Given the description of an element on the screen output the (x, y) to click on. 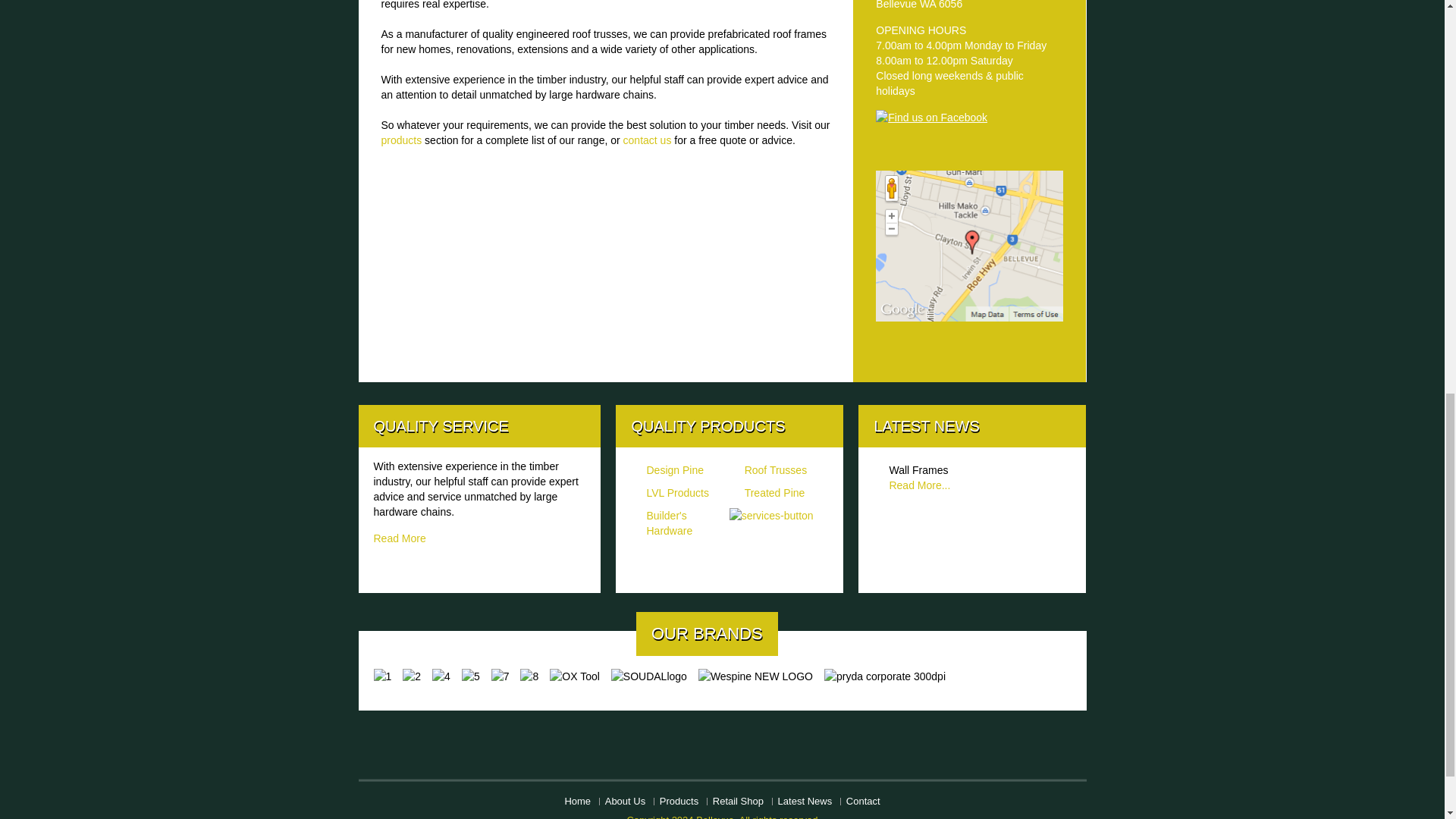
Roof Trusses (775, 469)
Products (678, 801)
Contact (862, 801)
Builder's Hardware (669, 523)
About Us (625, 801)
Read More (398, 538)
Retail Shop (737, 801)
products (401, 140)
contact us (647, 140)
Design Pine (674, 469)
